Given the description of an element on the screen output the (x, y) to click on. 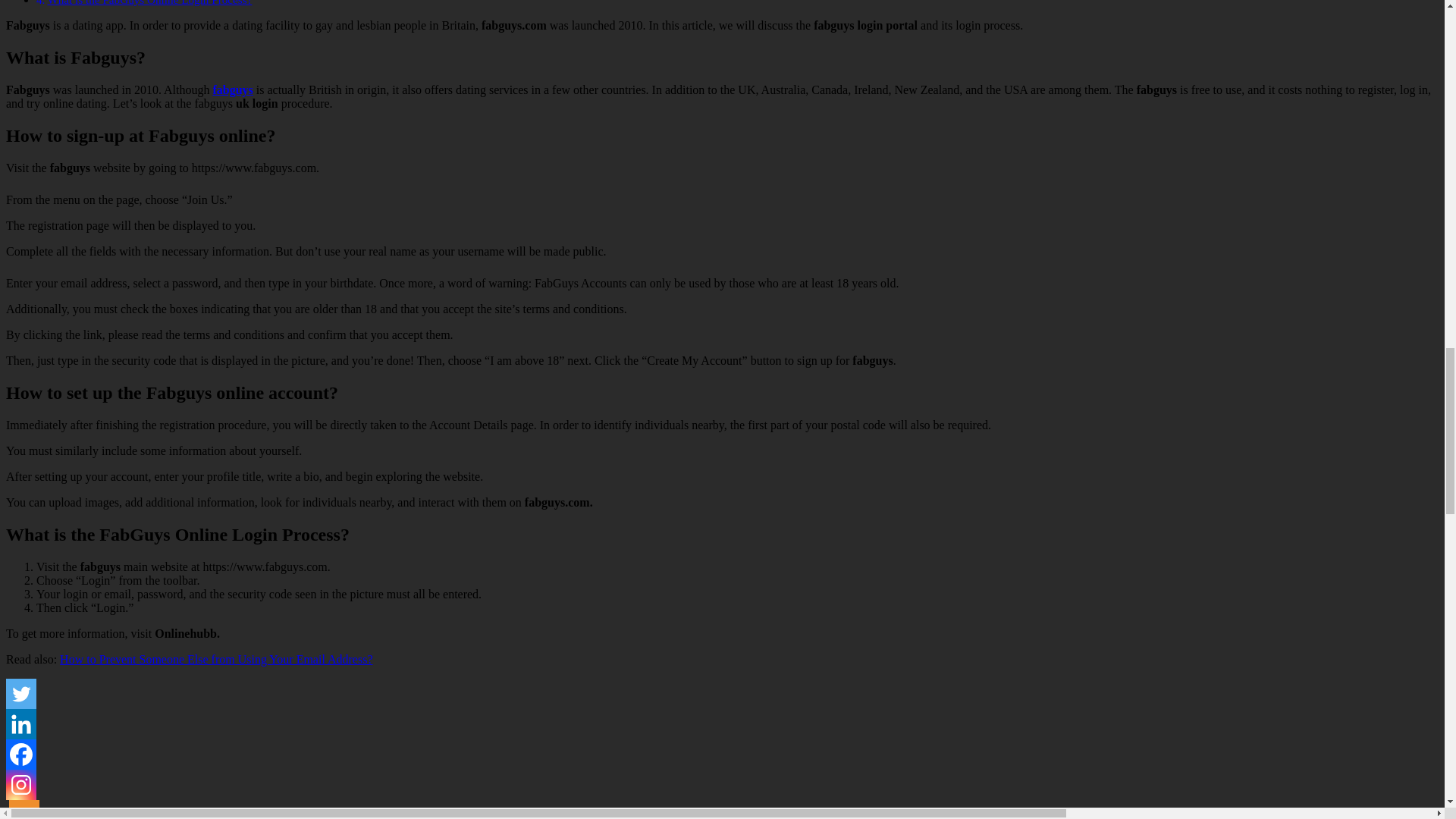
What is the FabGuys Online Login Process? (148, 2)
What is the FabGuys Online Login Process? (148, 2)
Linkedin (20, 723)
Twitter (20, 693)
Facebook (20, 753)
How to Prevent Someone Else from Using Your Email Address? (215, 658)
More (23, 809)
fabguys (231, 89)
Instagram (20, 784)
